Given the description of an element on the screen output the (x, y) to click on. 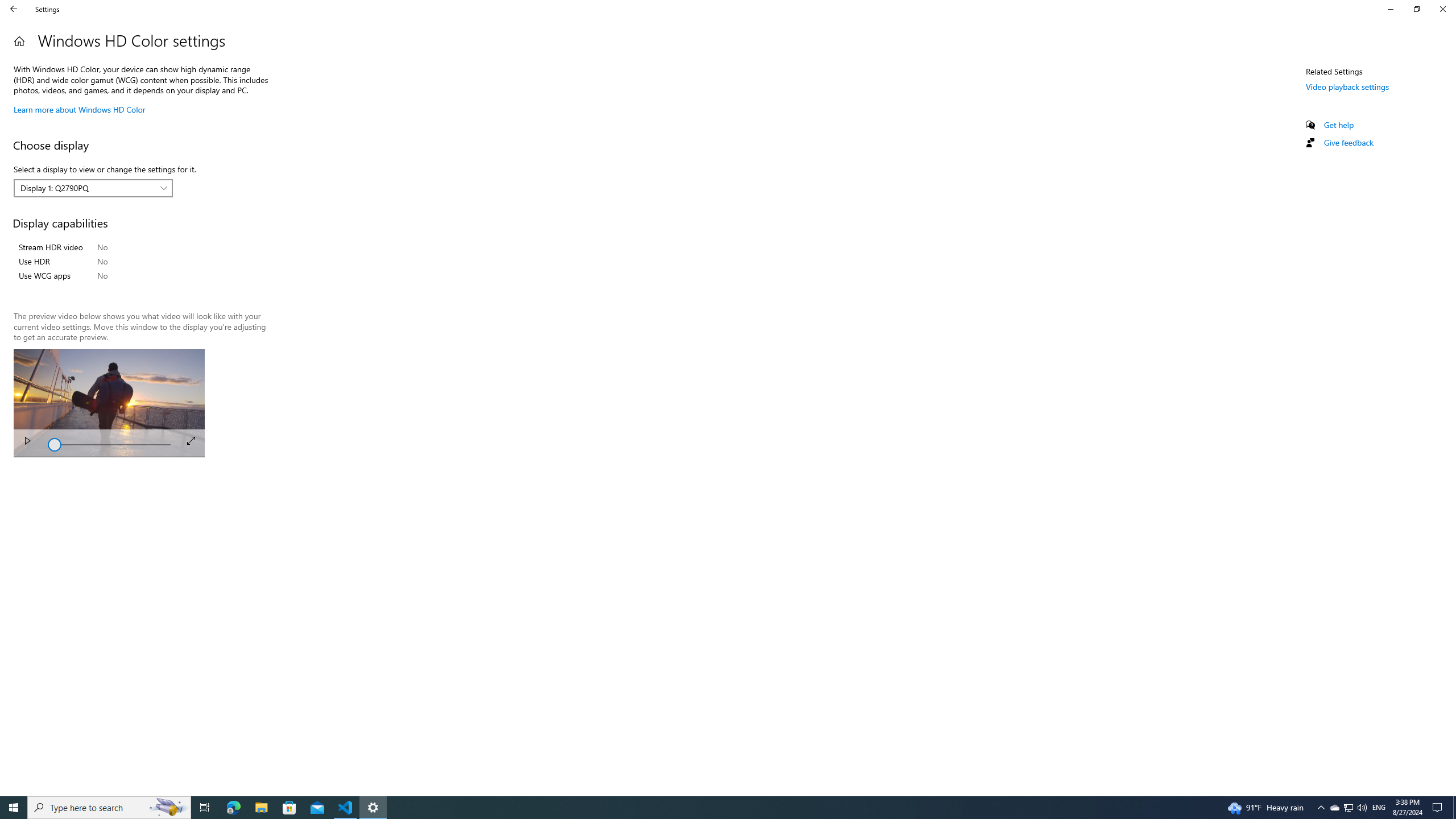
Minimize Settings (1390, 9)
Play (26, 443)
Home (19, 40)
